Given the description of an element on the screen output the (x, y) to click on. 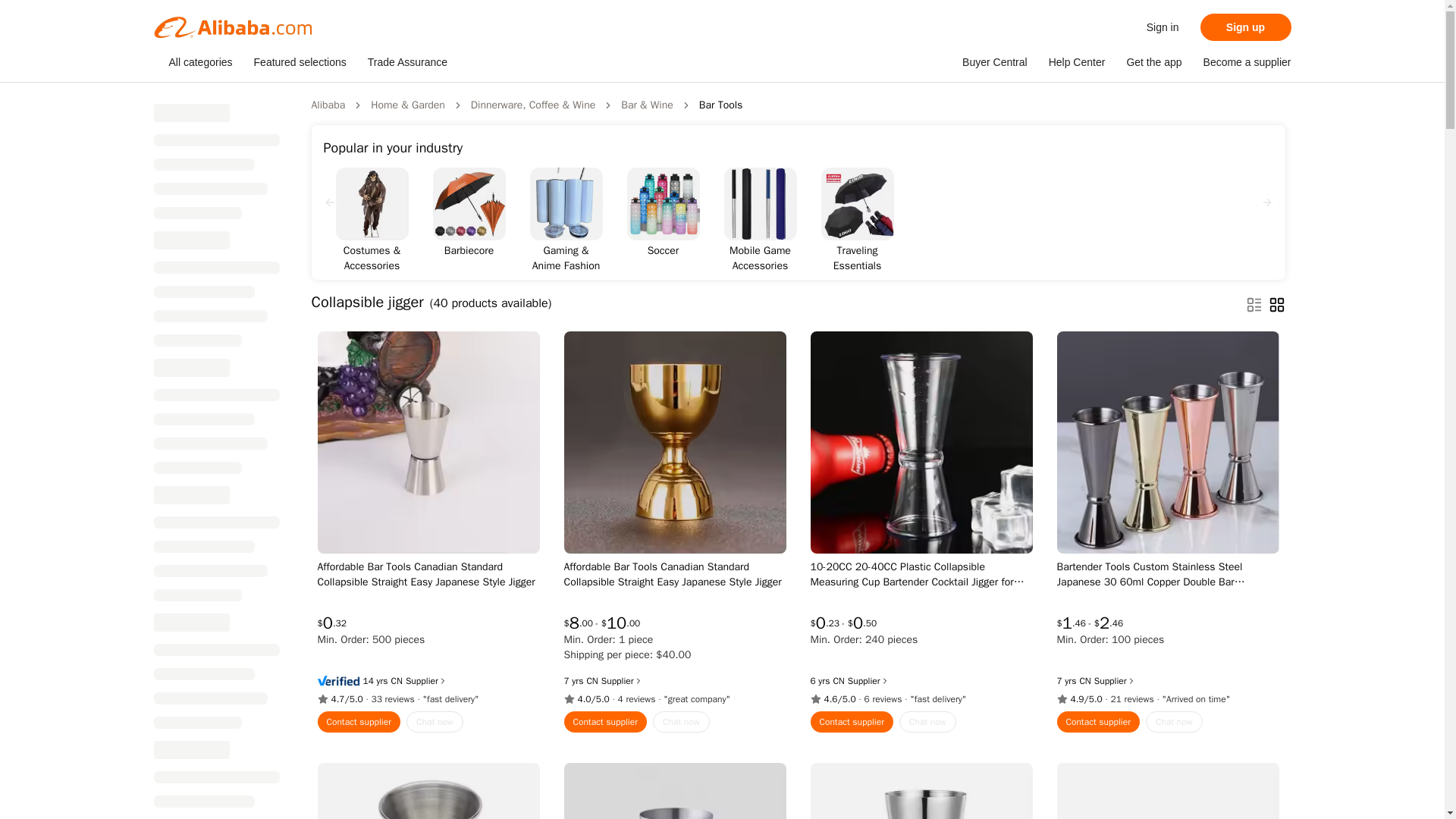
Jieyang Yasheng Stainless Steel Industrial Co.,Ltd. (838, 680)
Guangdong Top Kitchen Equipment Co., Ltd. (591, 680)
Shenzhen Huilian Xing Technology Co., Ltd. (1084, 680)
Suzhou Sunrise Technologies Ltd. (397, 680)
